Given the description of an element on the screen output the (x, y) to click on. 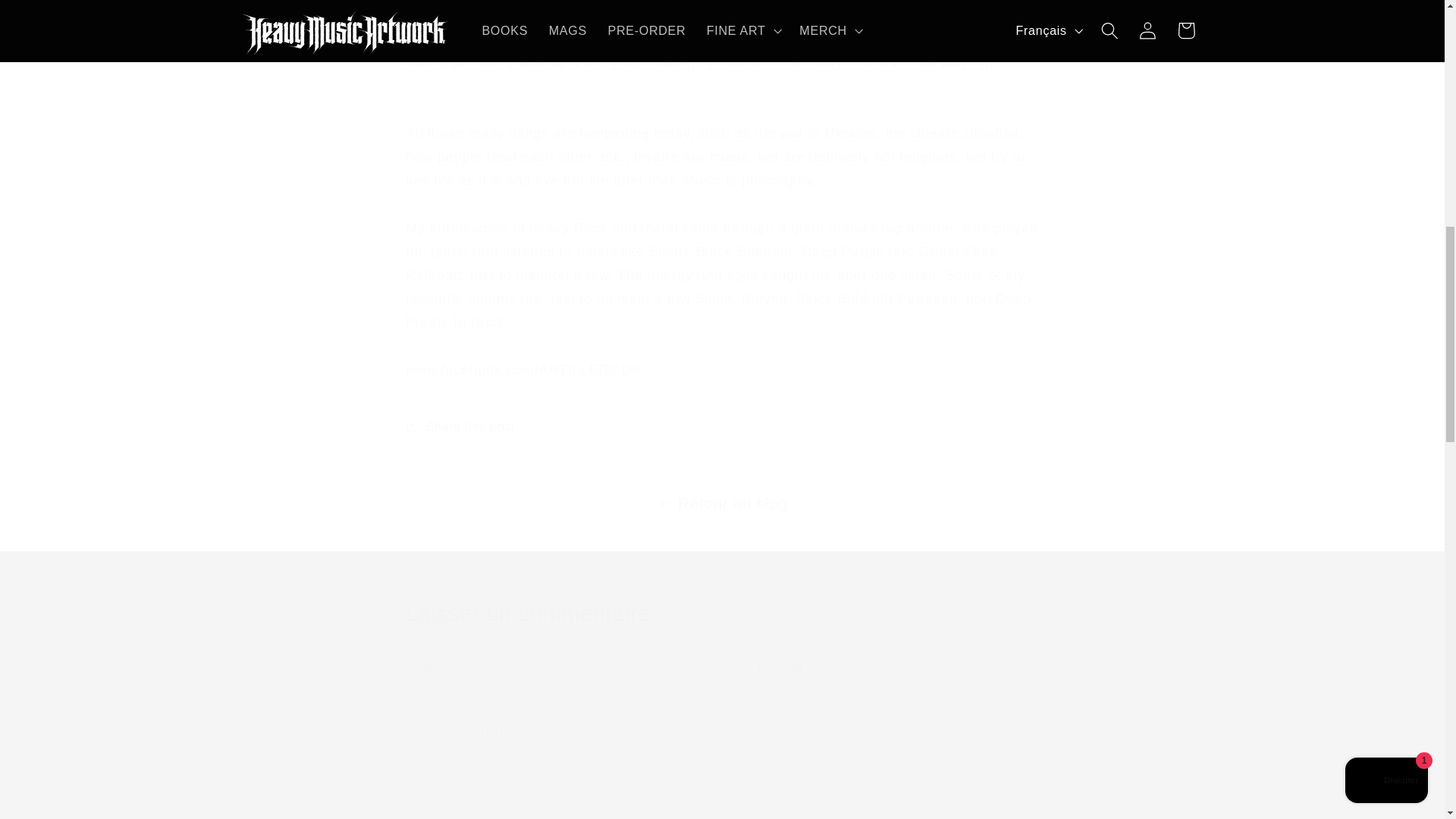
Share this post (722, 426)
